Given the description of an element on the screen output the (x, y) to click on. 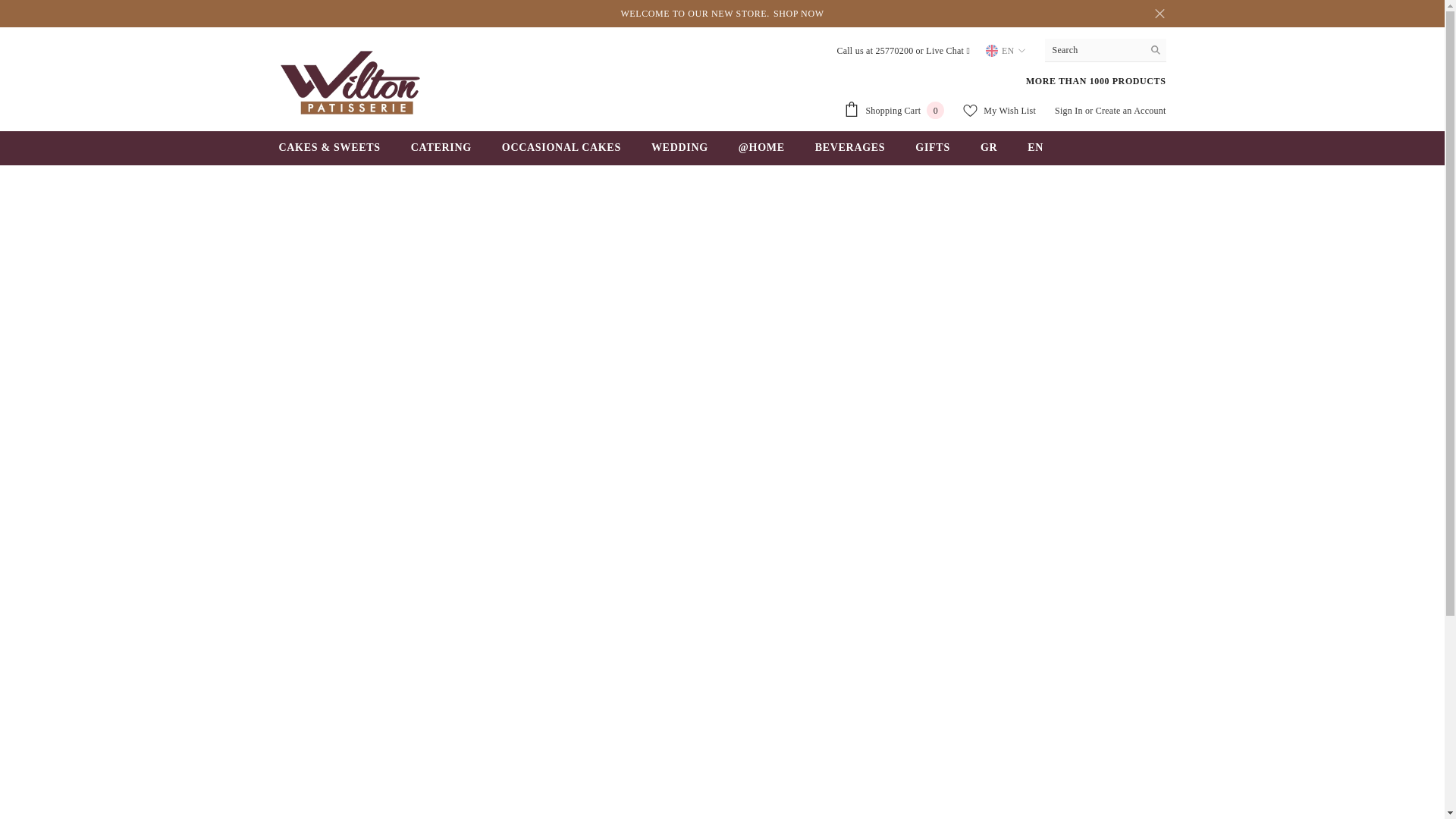
EN (1005, 50)
SHOP NOW (798, 13)
Close (1159, 13)
